Given the description of an element on the screen output the (x, y) to click on. 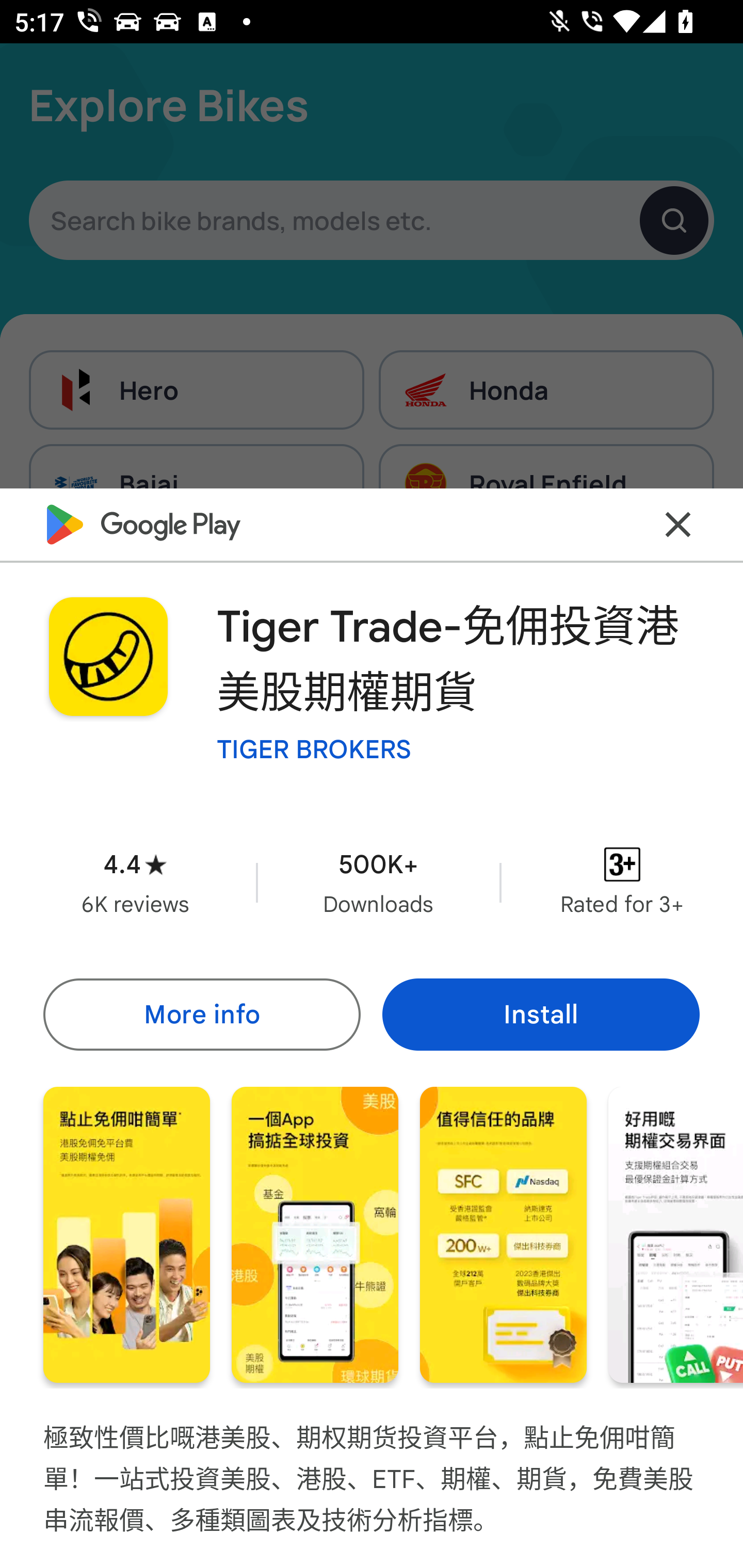
Close (677, 525)
TIGER BROKERS (313, 748)
More info (201, 1014)
Install (540, 1014)
Screenshot "1" of "8" (126, 1234)
Screenshot "2" of "8" (314, 1234)
Screenshot "3" of "8" (502, 1234)
Screenshot "4" of "8" (675, 1234)
